Given the description of an element on the screen output the (x, y) to click on. 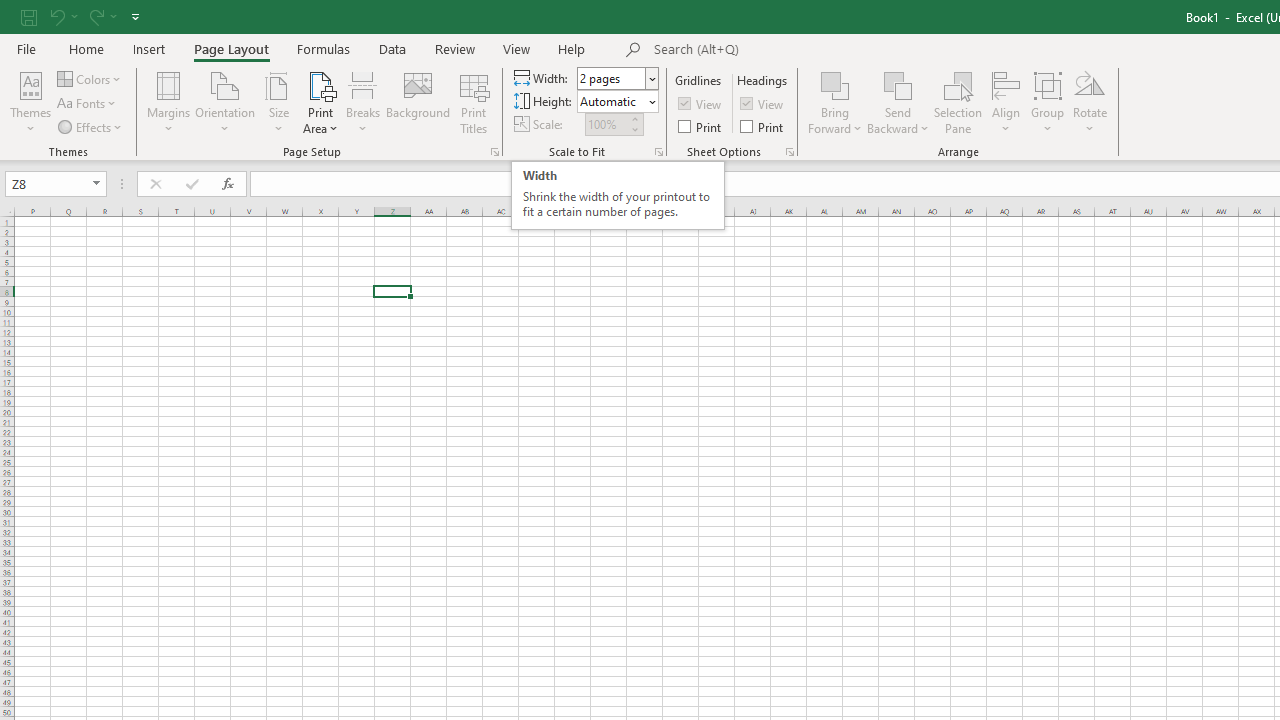
System (10, 11)
Open (96, 183)
Send Backward (898, 84)
View (763, 103)
Fonts (87, 103)
Page Layout (230, 48)
Redo (95, 15)
Background... (418, 102)
Themes (30, 102)
Microsoft search (792, 49)
Name Box (56, 183)
Margins (168, 102)
Width (611, 78)
Help (572, 48)
